Given the description of an element on the screen output the (x, y) to click on. 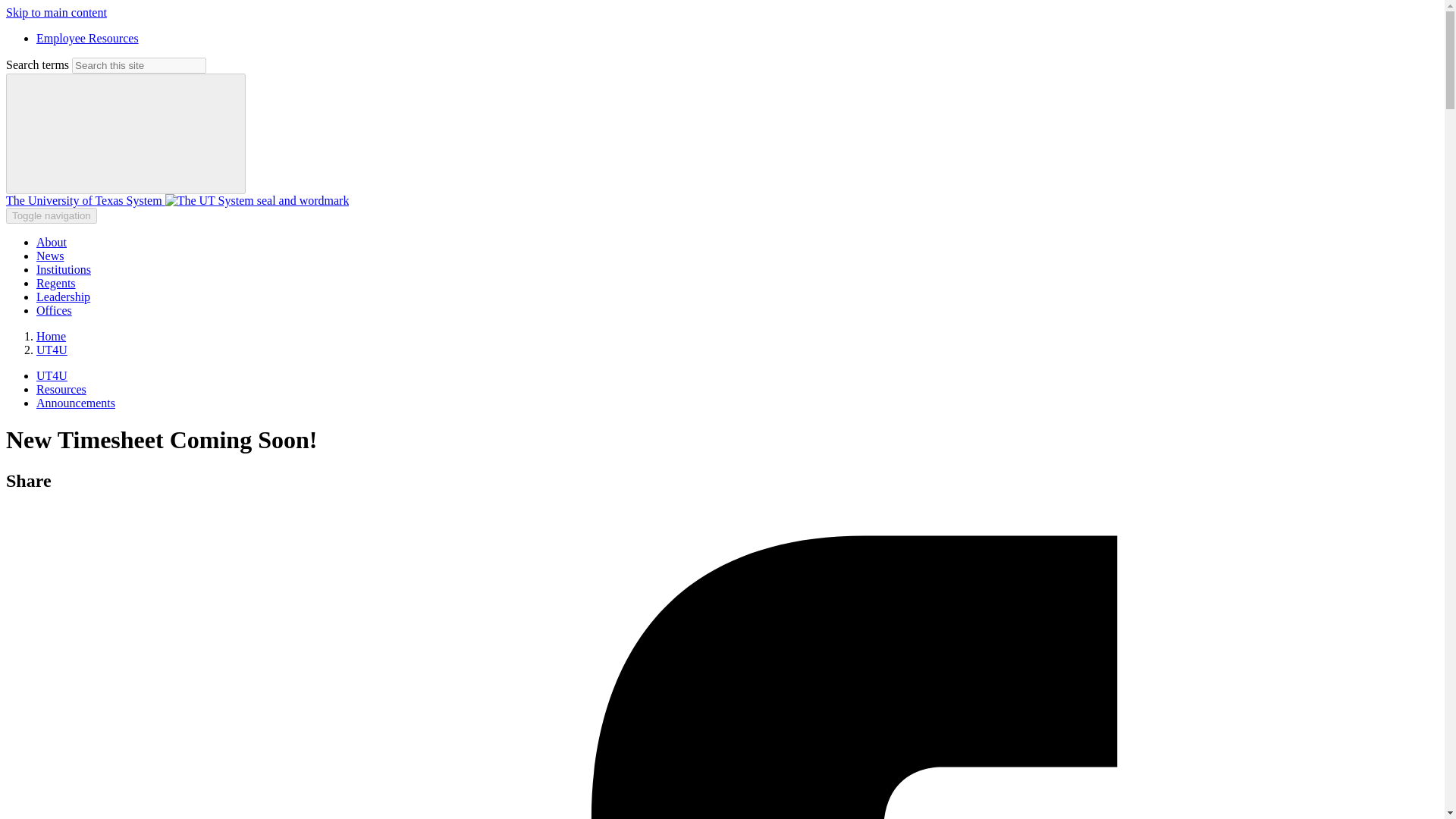
Search icon (125, 133)
Institutions (63, 269)
News (50, 255)
UT4U (51, 375)
Home (177, 200)
Offices (53, 309)
Skip to main content (55, 11)
Regents (55, 282)
Leadership (63, 296)
Homepage of the UT4U site (51, 375)
